Given the description of an element on the screen output the (x, y) to click on. 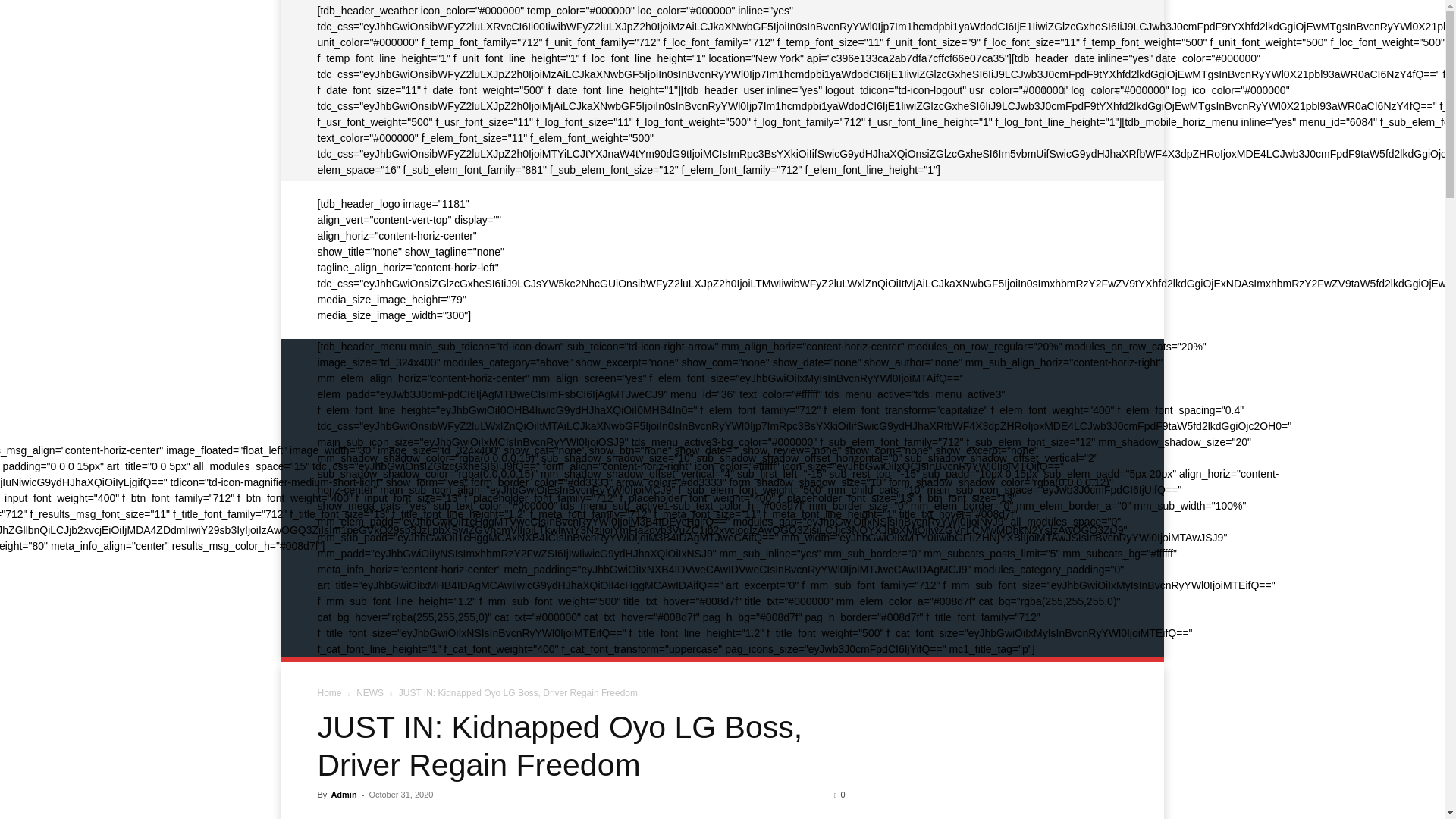
View all posts in NEWS (370, 692)
Vimeo (1099, 90)
Facebook (1044, 90)
Instagram (1062, 90)
Twitter (1080, 90)
Youtube (1117, 90)
0 (839, 794)
NEWS (370, 692)
Admin (343, 794)
Home (328, 692)
